Given the description of an element on the screen output the (x, y) to click on. 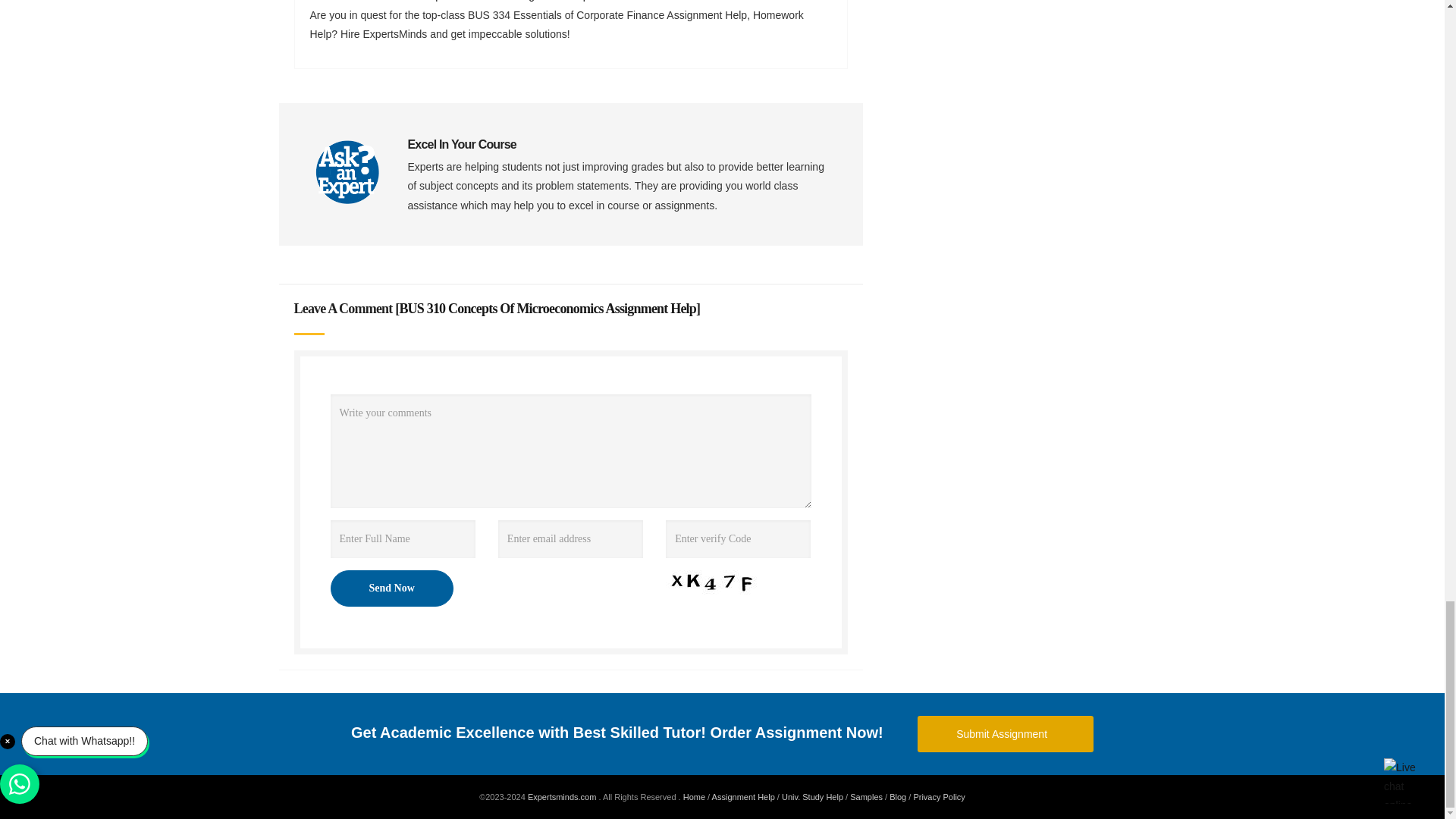
BUS 310 Concepts Of Microeconomics Assignment Help (546, 308)
Send Now (391, 588)
Send Now (391, 588)
